Given the description of an element on the screen output the (x, y) to click on. 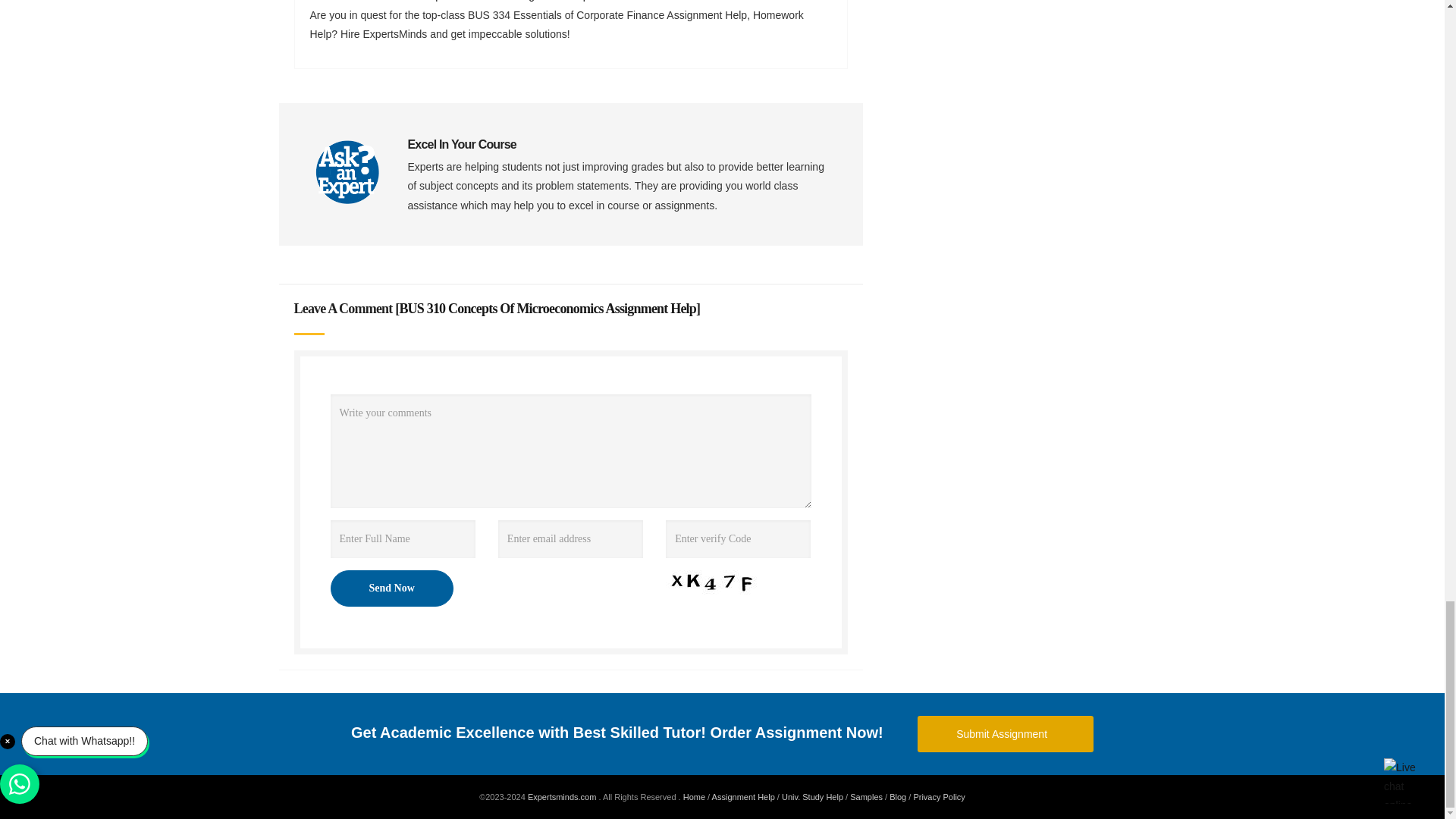
BUS 310 Concepts Of Microeconomics Assignment Help (546, 308)
Send Now (391, 588)
Send Now (391, 588)
